Given the description of an element on the screen output the (x, y) to click on. 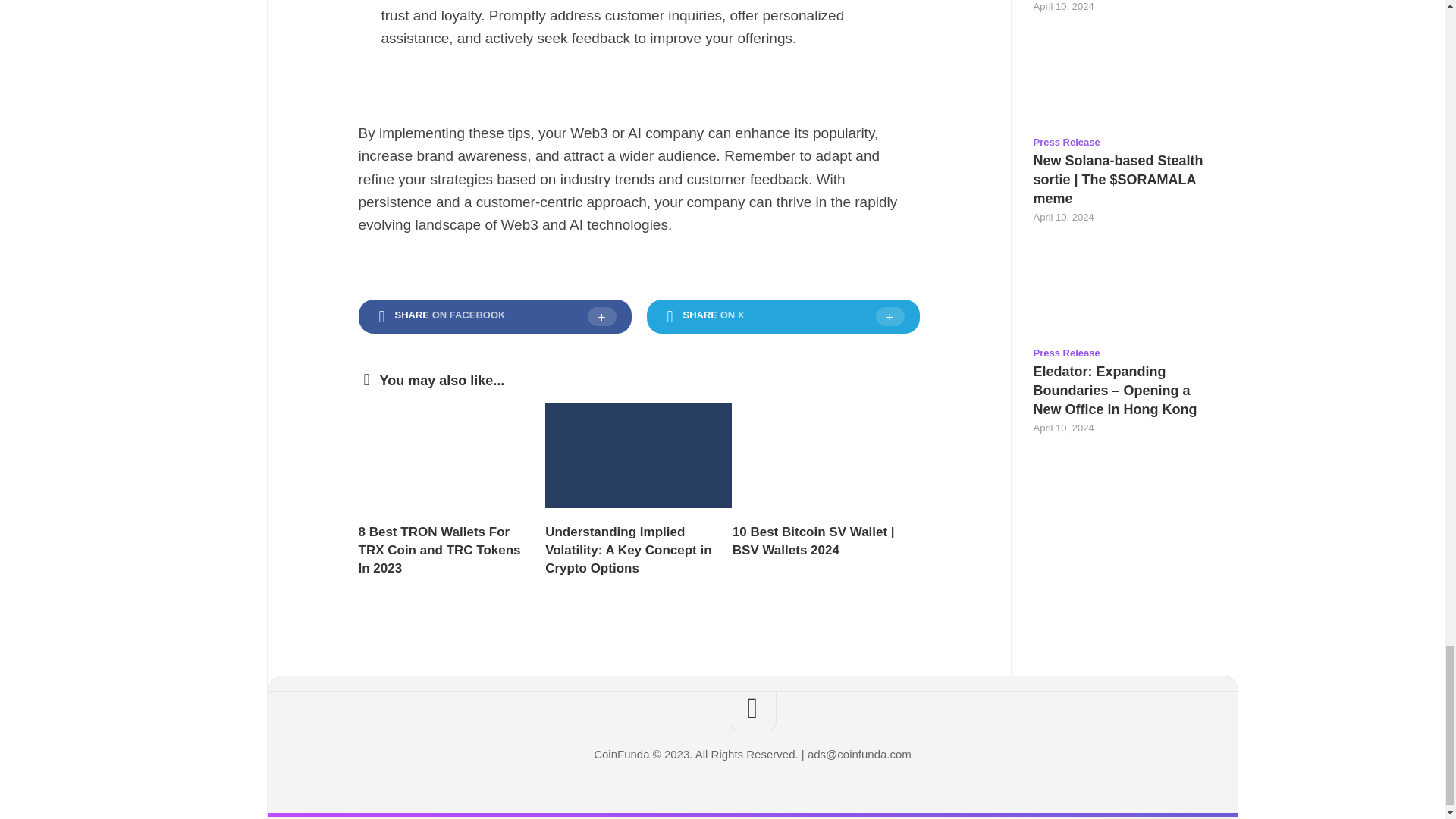
SHARE ON X (782, 316)
8 Best TRON Wallets For TRX Coin and TRC Tokens In 2023 (438, 549)
SHARE ON FACEBOOK (494, 316)
8 Best TRON Wallets For TRX Coin and TRC Tokens In 2023 2 (451, 455)
